Given the description of an element on the screen output the (x, y) to click on. 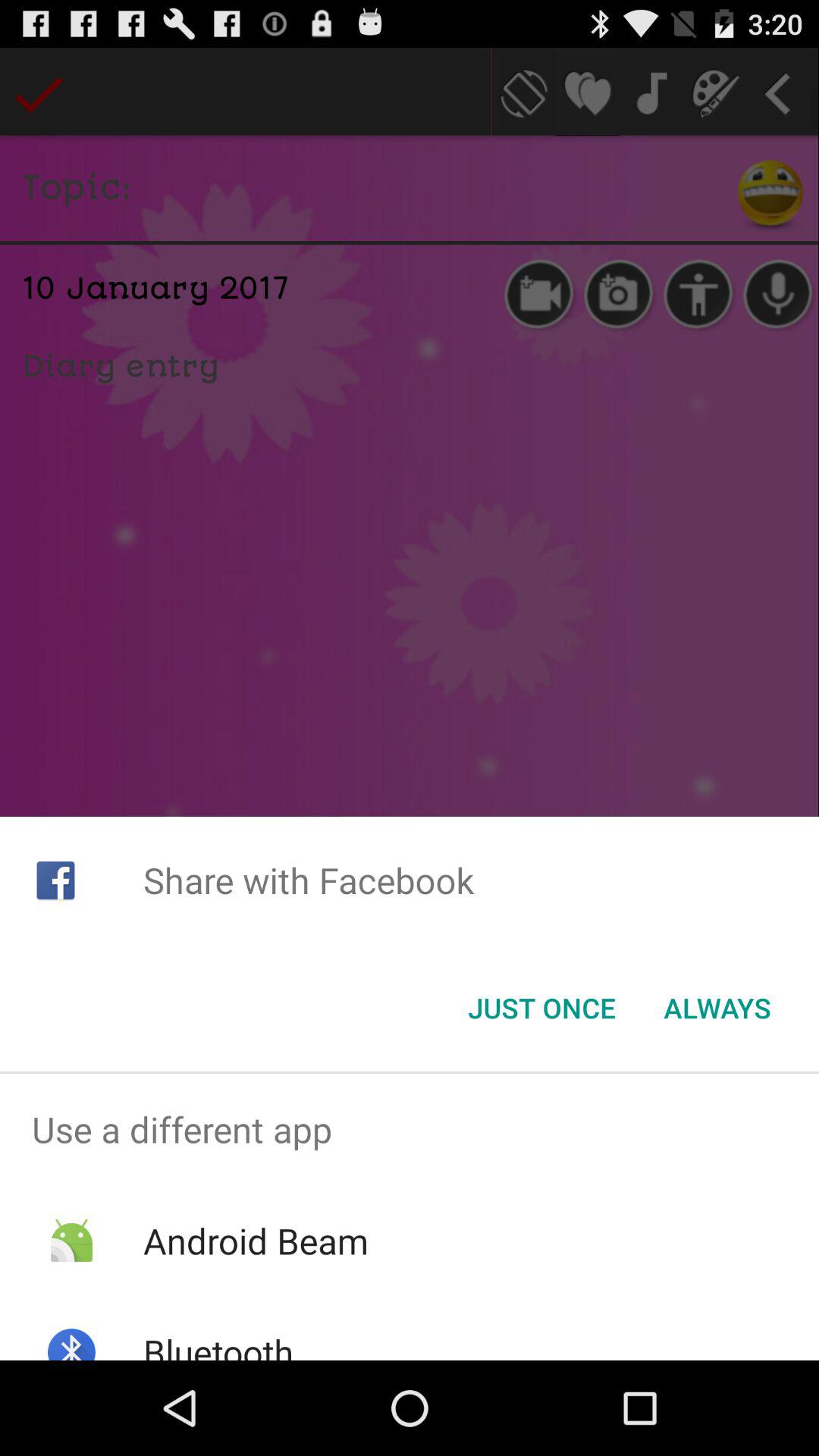
scroll until use a different icon (409, 1129)
